Given the description of an element on the screen output the (x, y) to click on. 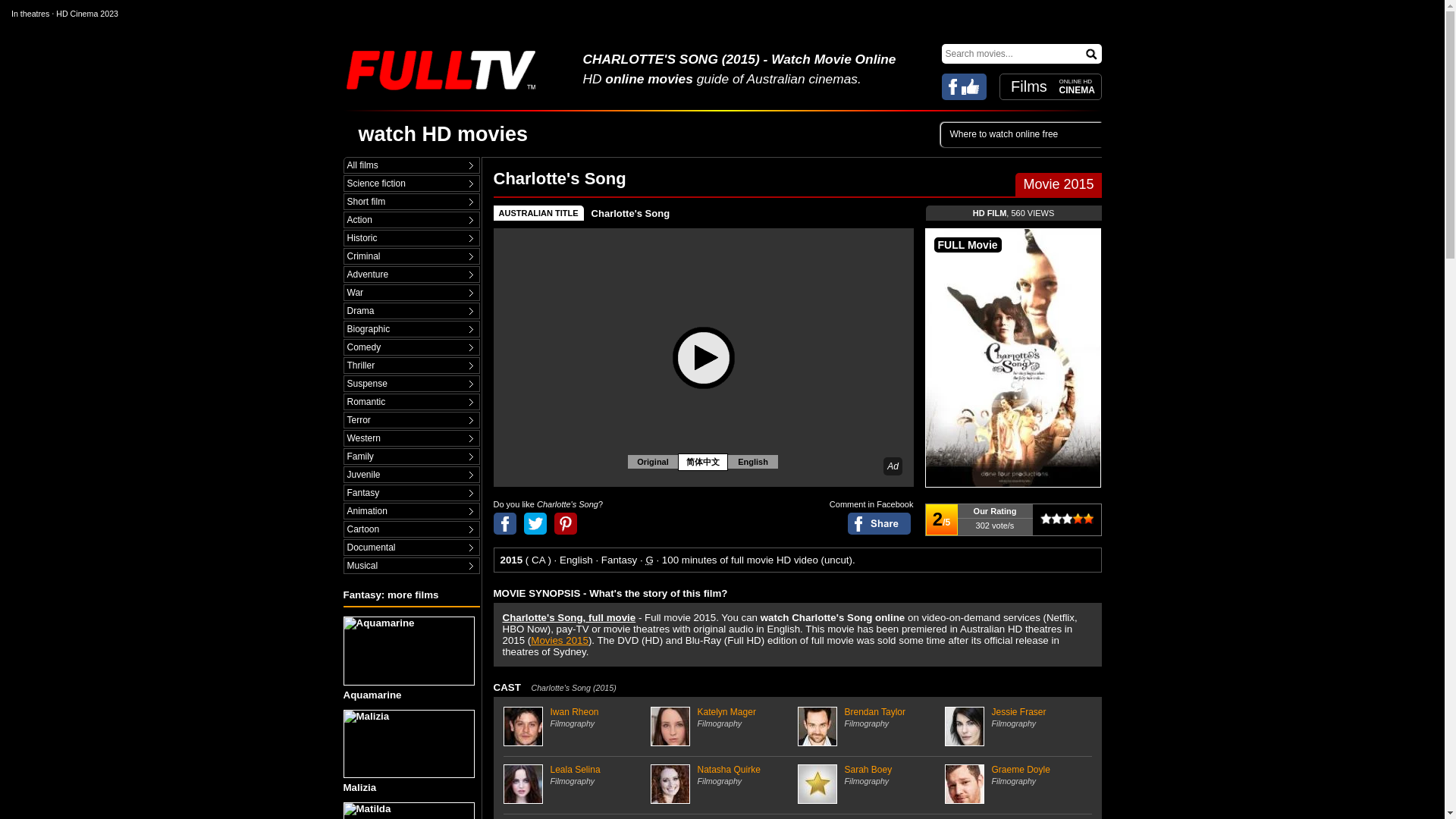
Romantic (411, 401)
Malizia (410, 751)
In theatres (30, 13)
Musical (411, 565)
Science fiction (411, 183)
Documental (411, 547)
Matilda (410, 810)
Aquamarine (410, 658)
watch HD movies (442, 133)
Suspense (411, 383)
Biographic (411, 328)
Family (411, 456)
Animation (411, 510)
Search (1091, 53)
Western (411, 437)
